Given the description of an element on the screen output the (x, y) to click on. 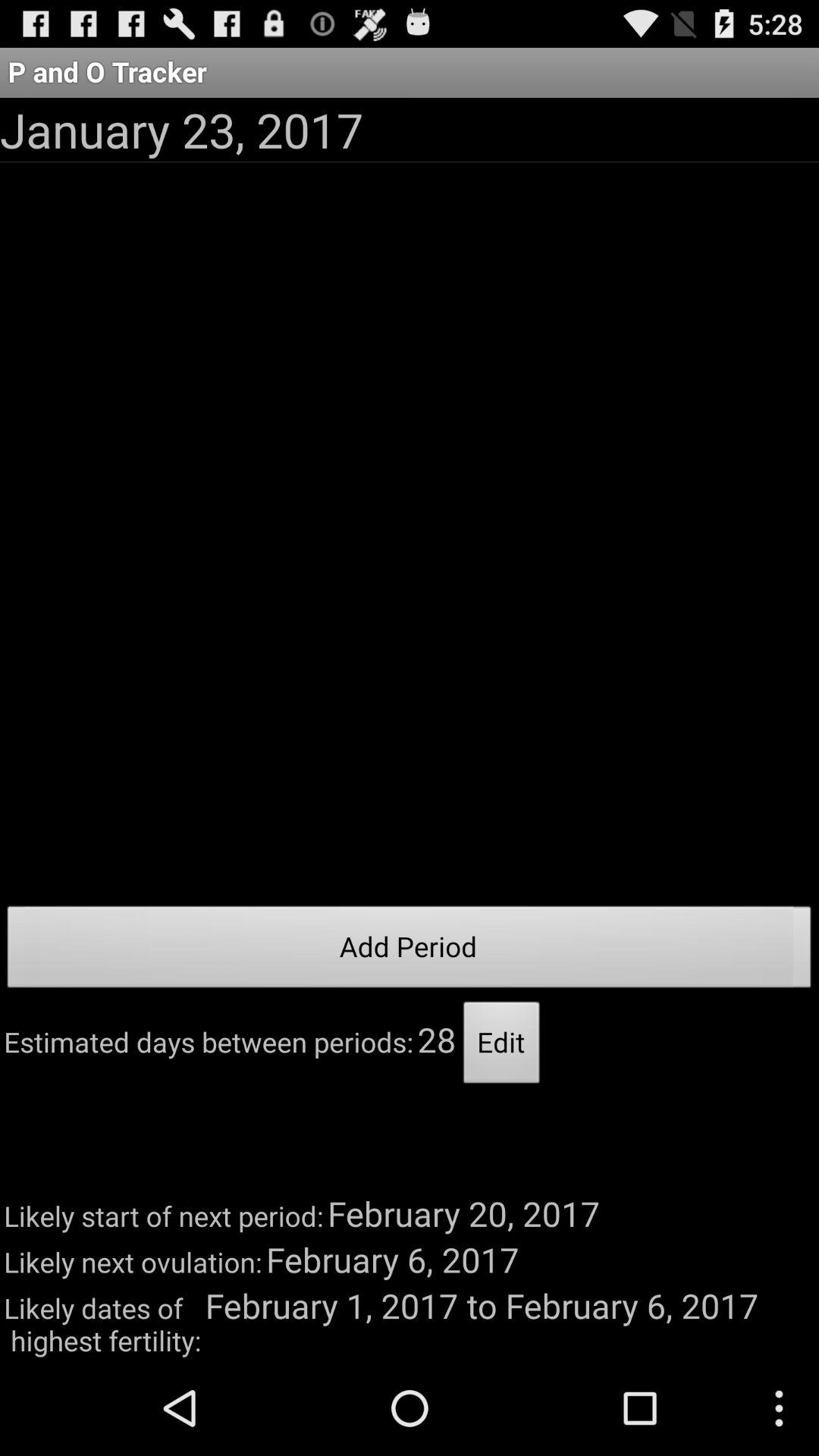
choose january 23, 2017 icon (181, 129)
